Given the description of an element on the screen output the (x, y) to click on. 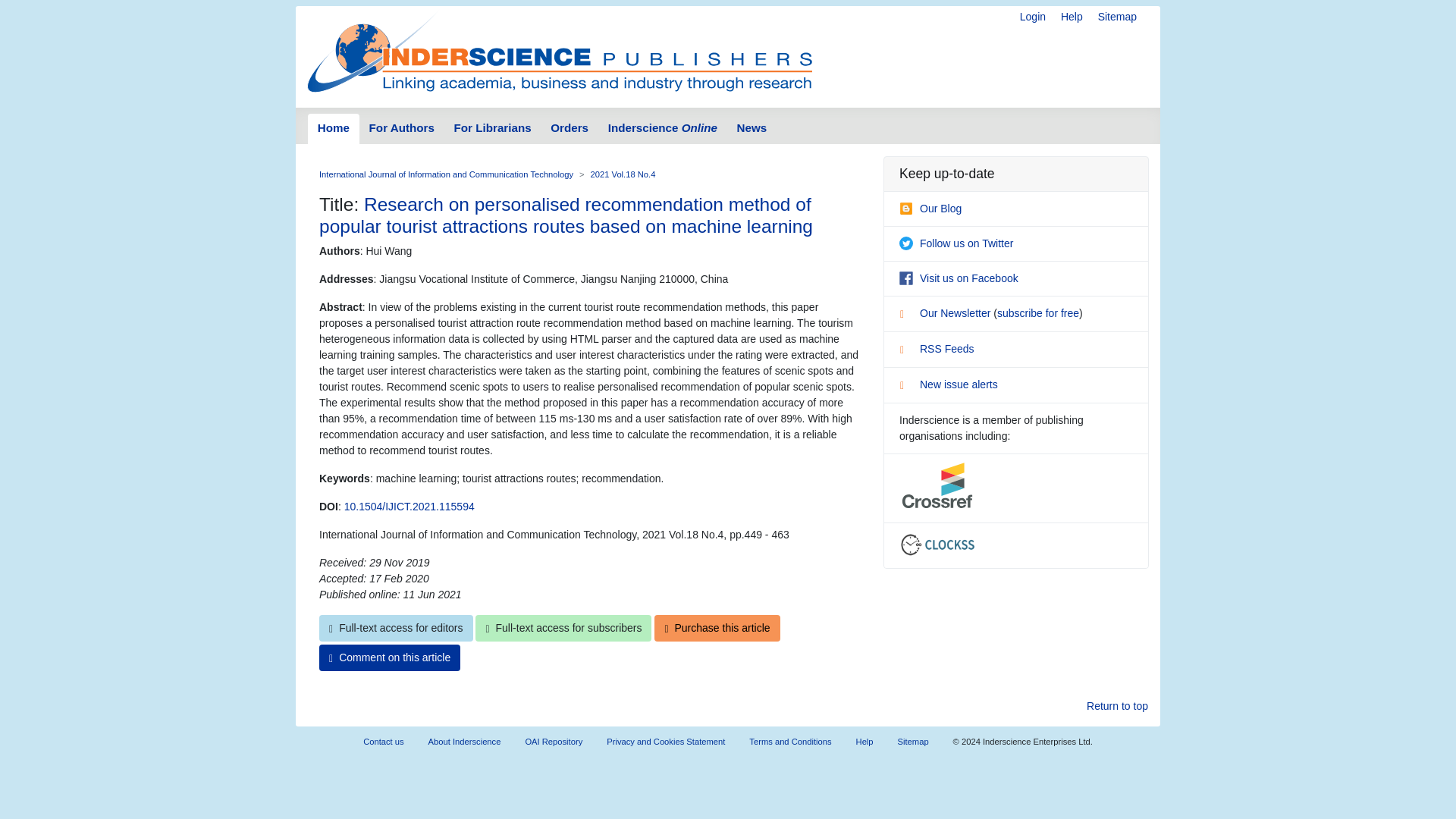
RSS (906, 351)
Our Newsletter (945, 313)
subscribe for free (1037, 313)
For Authors (401, 128)
Follow us on Twitter (956, 243)
Visit us on Facebook (958, 277)
Help (1072, 16)
Sitemap (1117, 16)
Comment on this article (389, 657)
New issue alerts (948, 384)
